Given the description of an element on the screen output the (x, y) to click on. 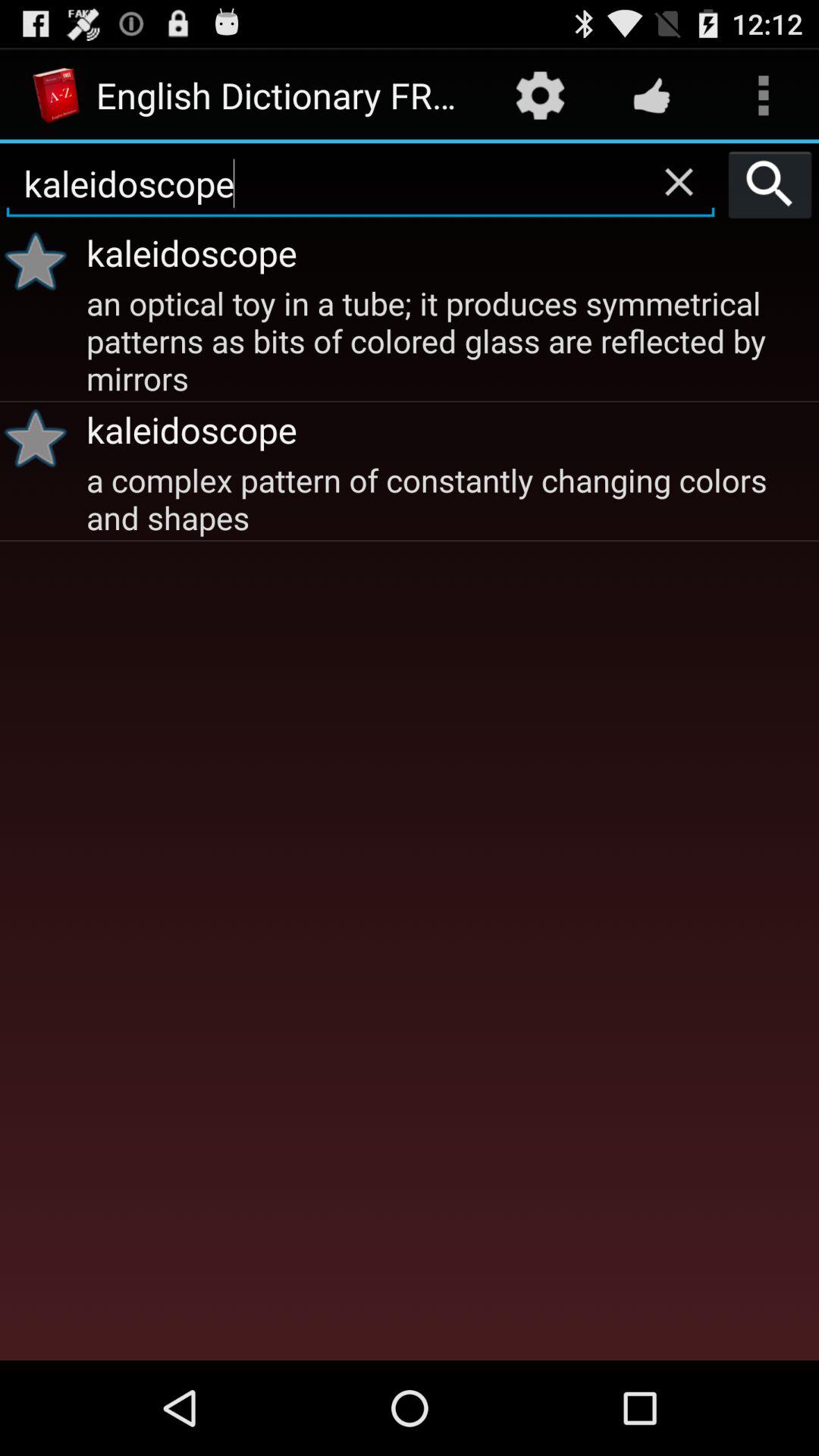
launch the icon below the kaleidoscope icon (41, 260)
